Given the description of an element on the screen output the (x, y) to click on. 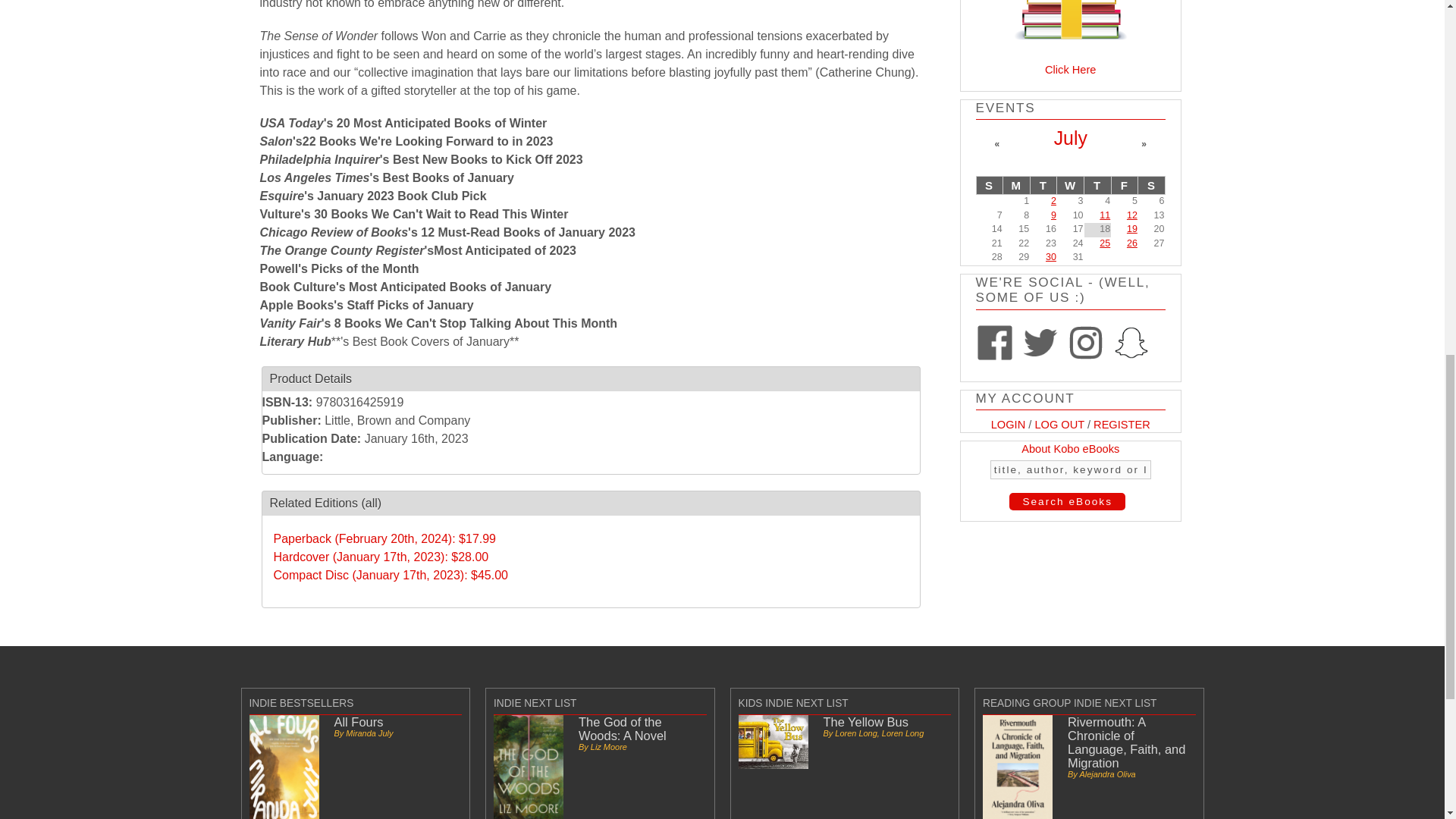
View full page month (1070, 137)
Search eBooks (1067, 501)
title, author, keyword or ISBN (1070, 469)
